Given the description of an element on the screen output the (x, y) to click on. 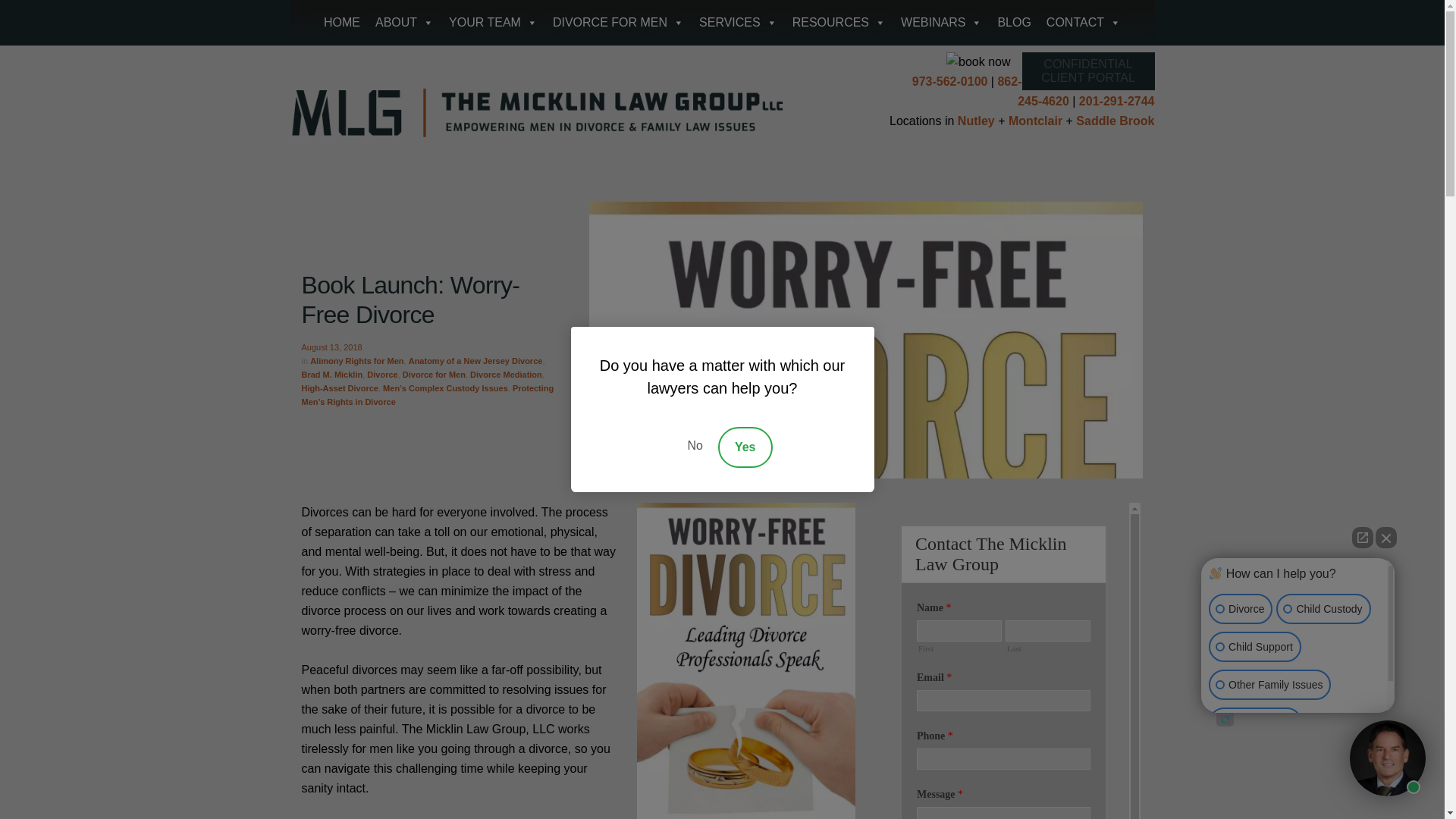
HOME (341, 22)
ABOUT (404, 22)
DIVORCE FOR MEN (617, 22)
SERVICES (737, 22)
YOUR TEAM (492, 22)
Confidential Client Portal (1088, 71)
